Given the description of an element on the screen output the (x, y) to click on. 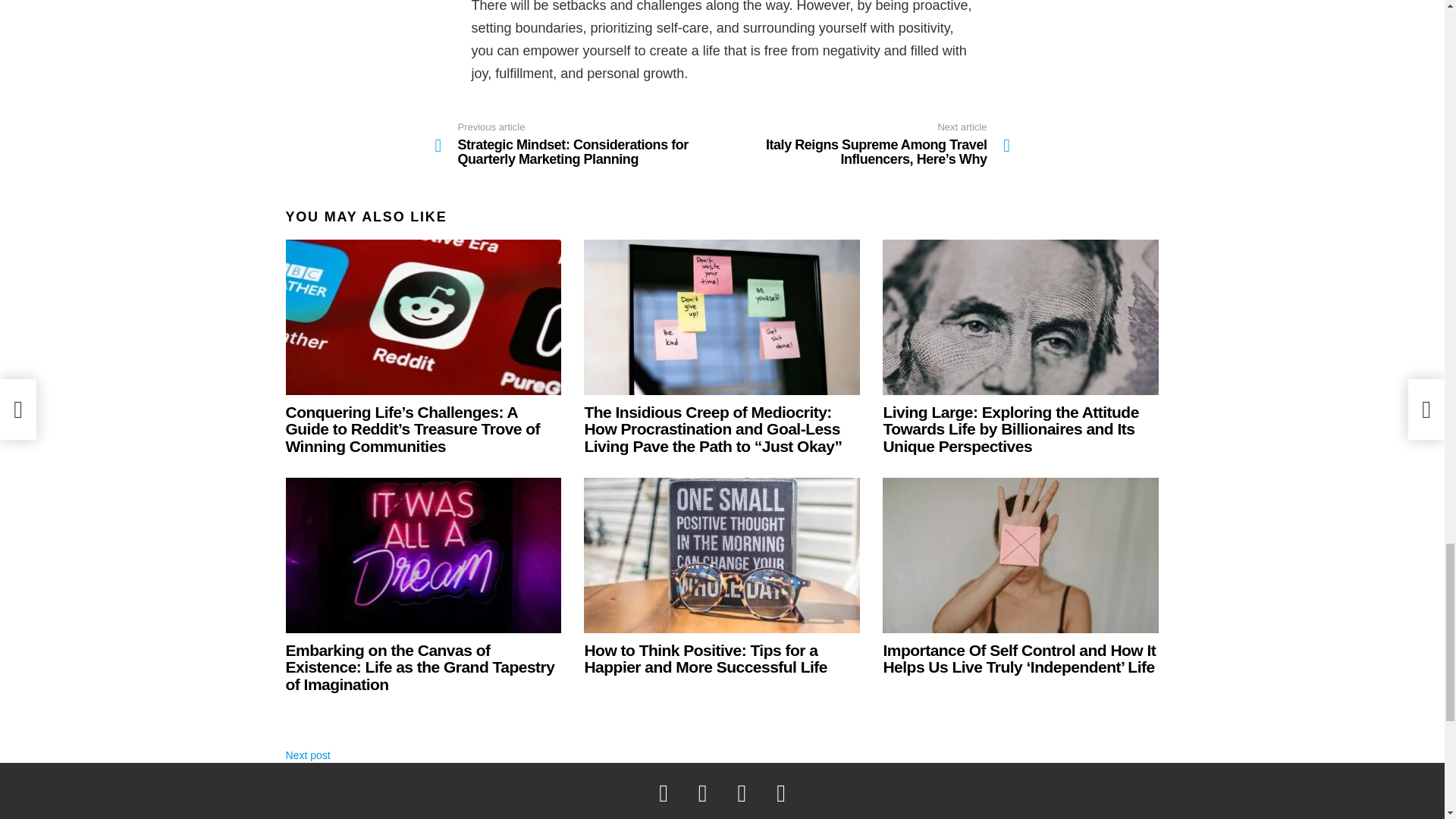
Next post (307, 755)
